Given the description of an element on the screen output the (x, y) to click on. 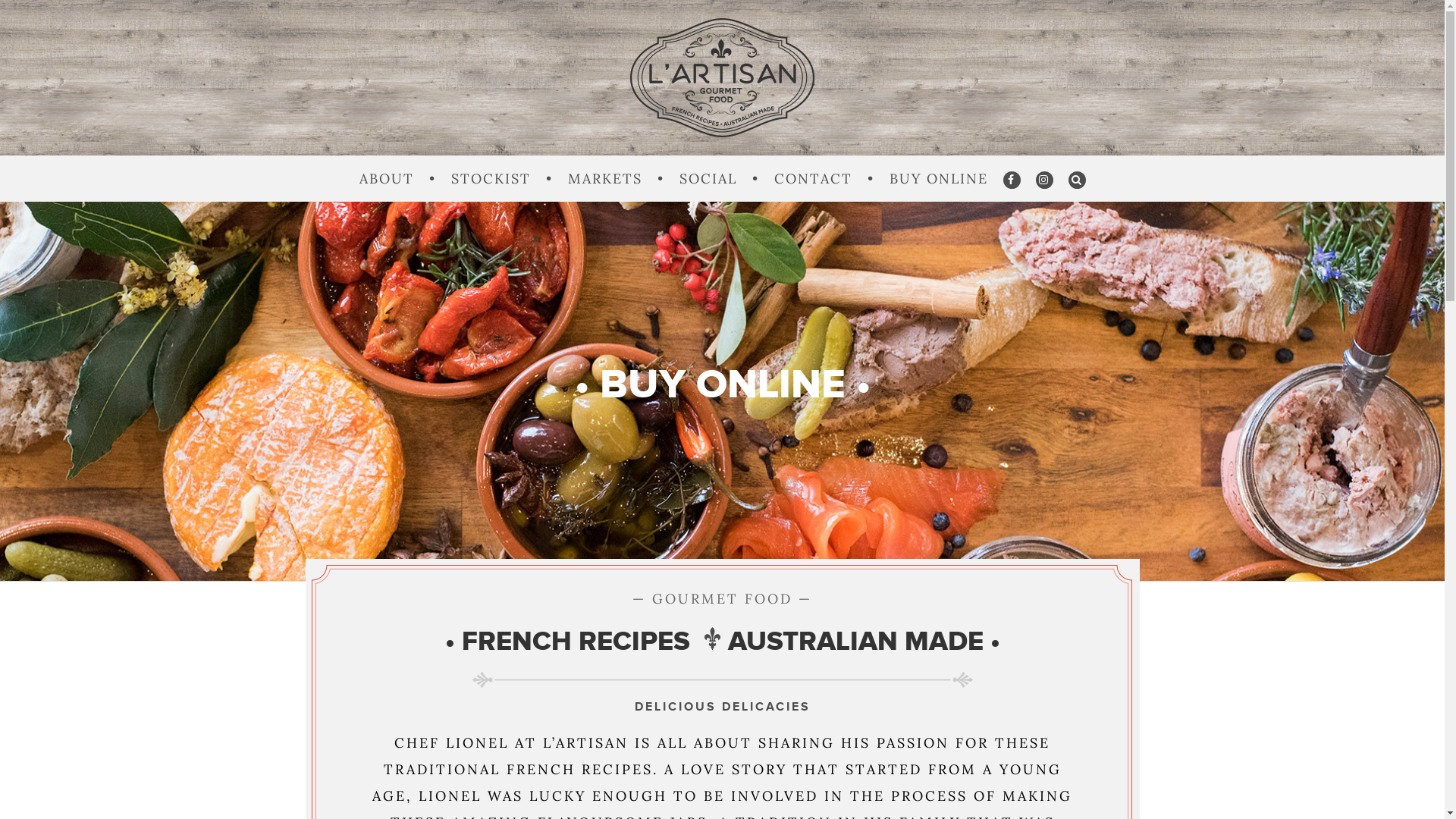
MARKETS Element type: text (604, 178)
STOCKIST Element type: text (489, 178)
SOCIAL Element type: text (707, 178)
BUY ONLINE Element type: text (937, 178)
ABOUT Element type: text (386, 178)
CONTACT Element type: text (812, 178)
